Given the description of an element on the screen output the (x, y) to click on. 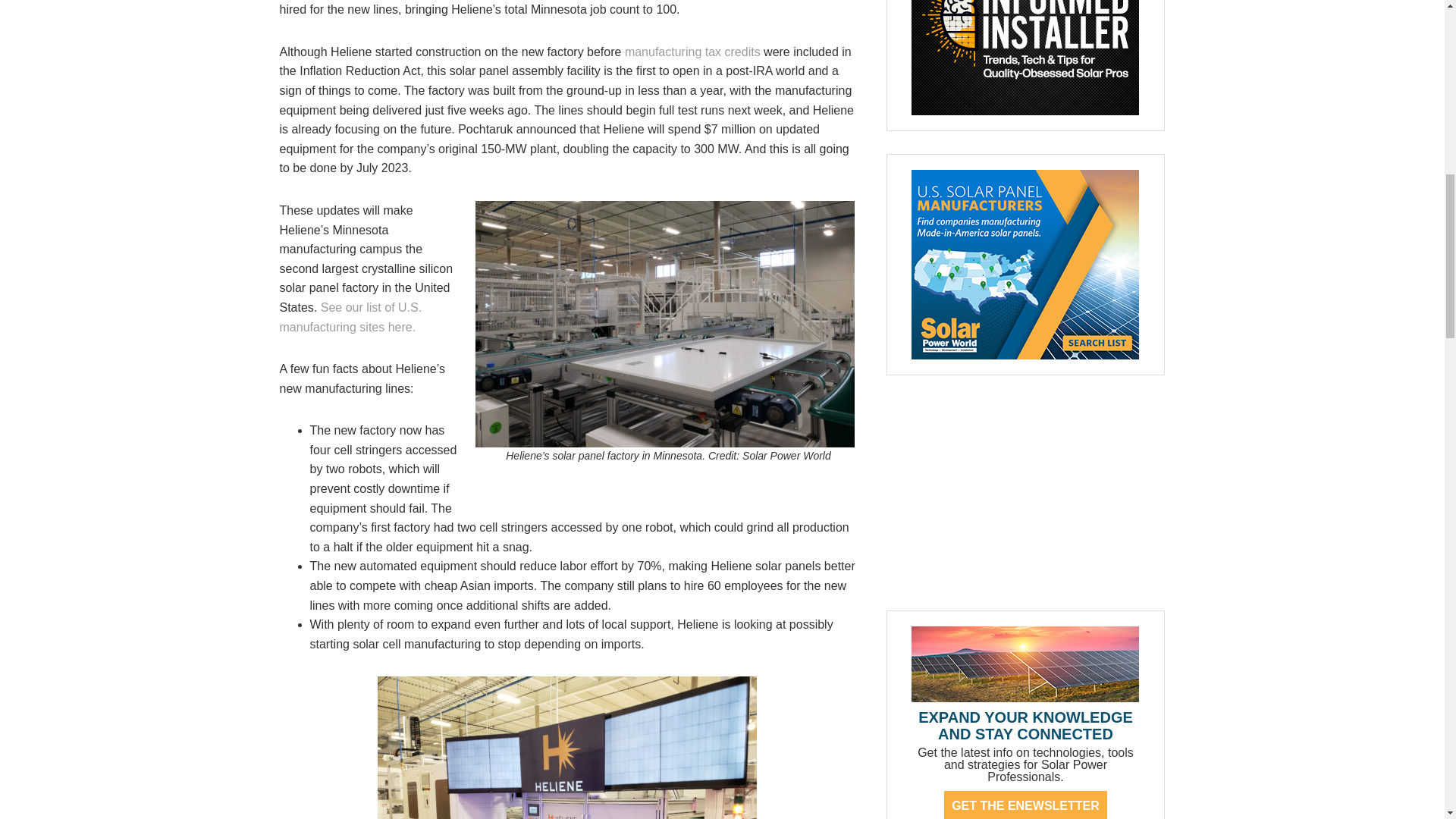
3rd party ad content (1024, 493)
